Given the description of an element on the screen output the (x, y) to click on. 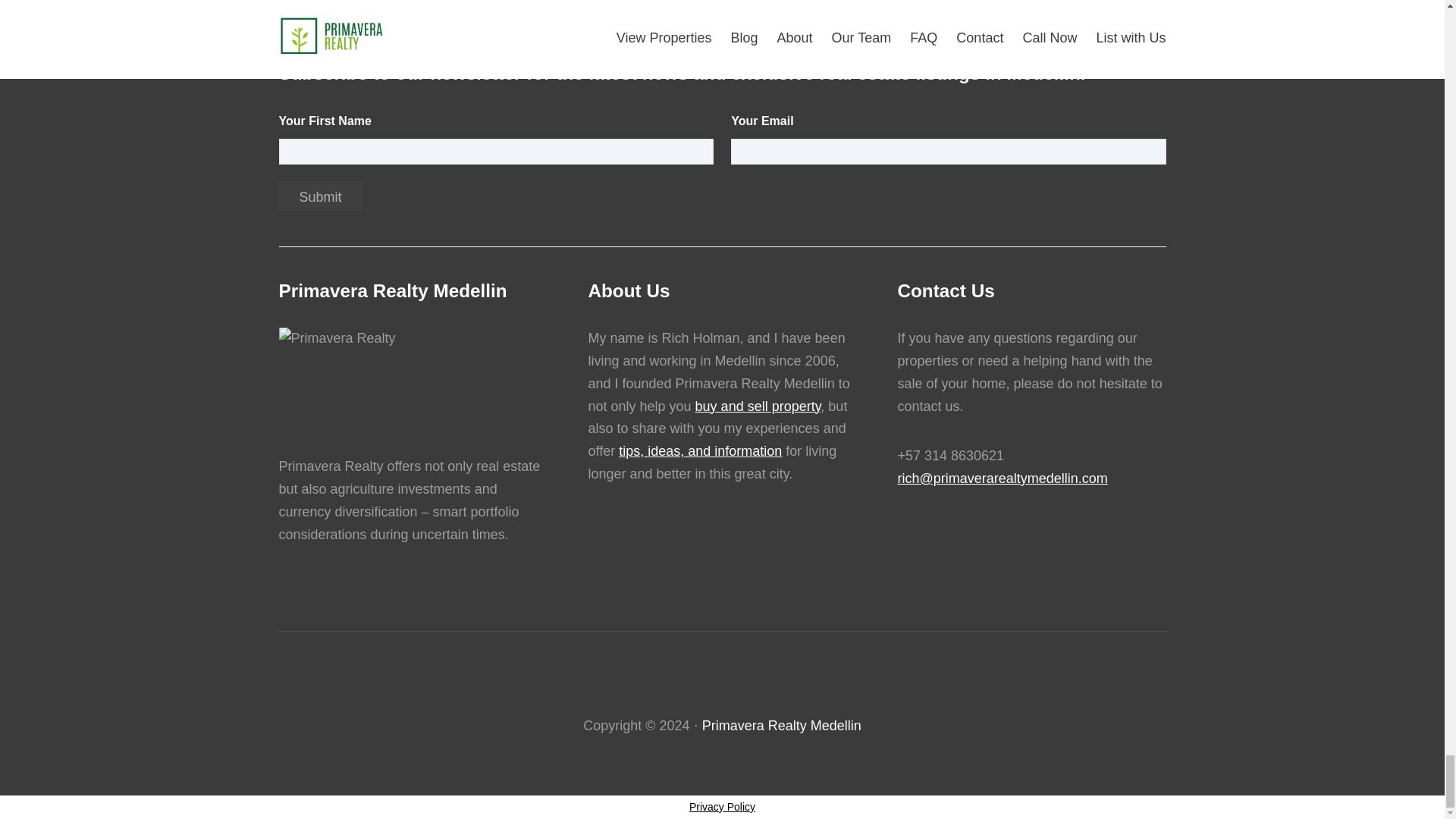
Submit (320, 196)
